Given the description of an element on the screen output the (x, y) to click on. 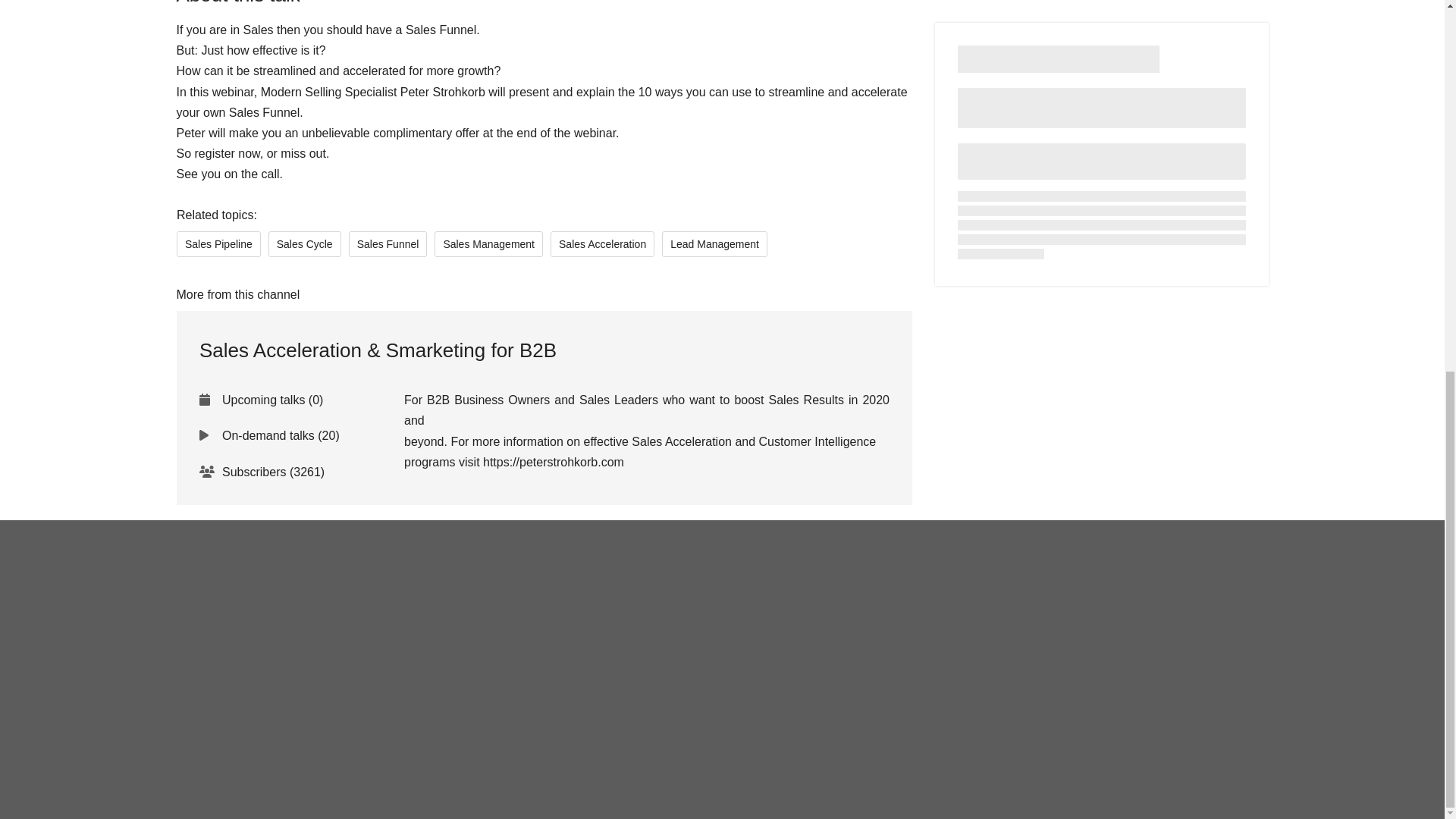
Sales Pipeline (218, 243)
Sales Acceleration (601, 243)
Sales Cycle (303, 243)
Sales Funnel (386, 243)
Lead Management (714, 243)
Sales Management (488, 243)
